Given the description of an element on the screen output the (x, y) to click on. 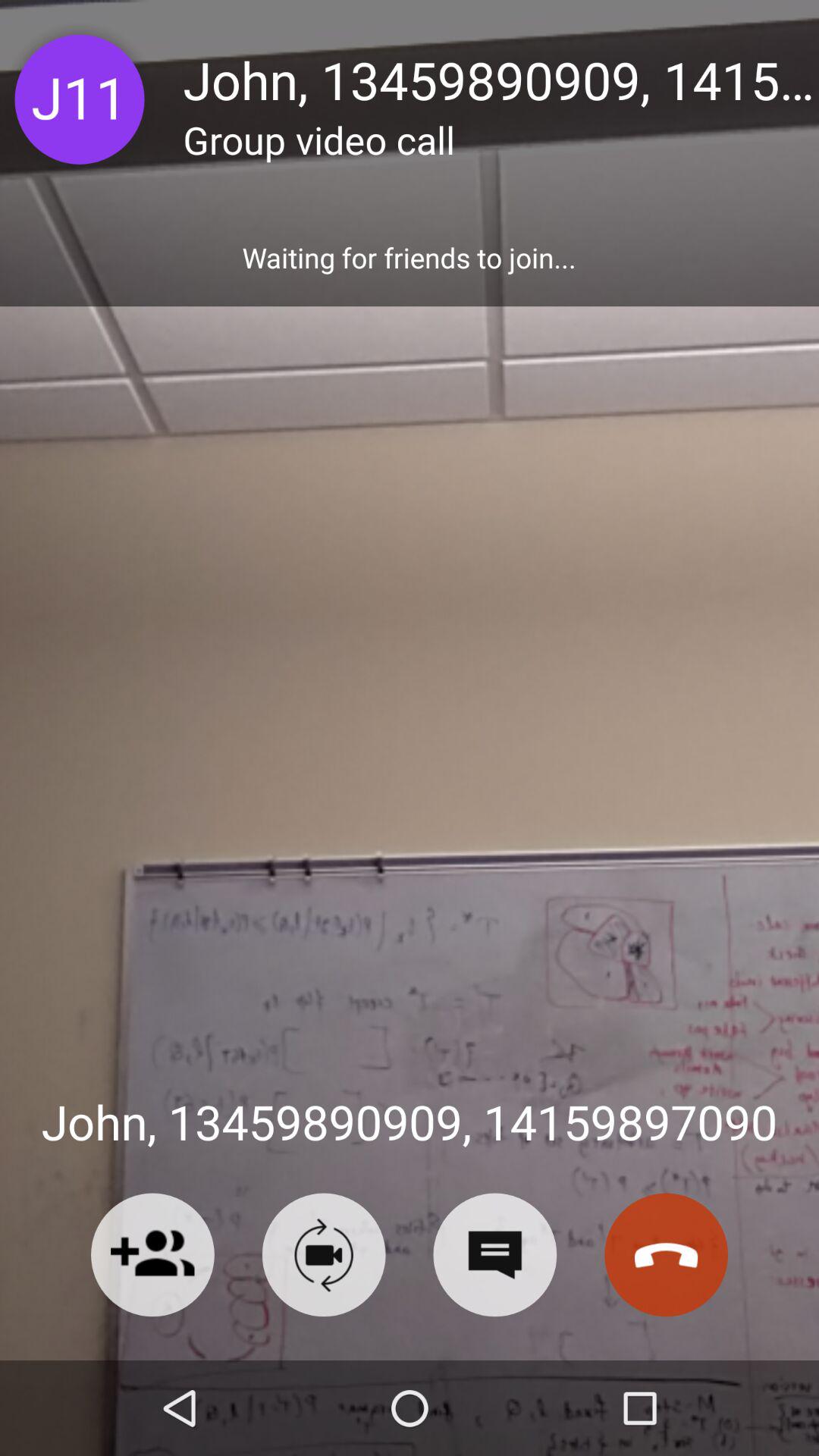
message option (494, 1254)
